Given the description of an element on the screen output the (x, y) to click on. 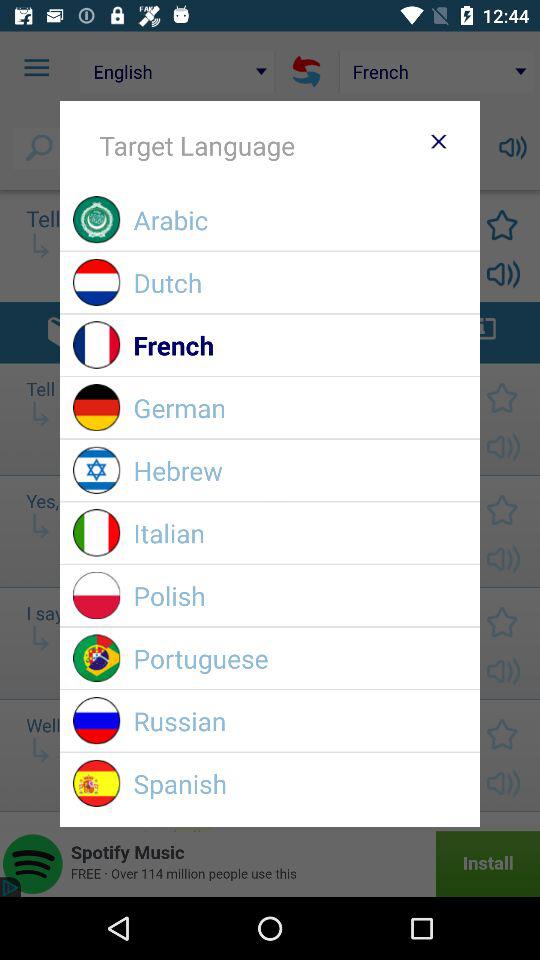
press item above polish (300, 532)
